Given the description of an element on the screen output the (x, y) to click on. 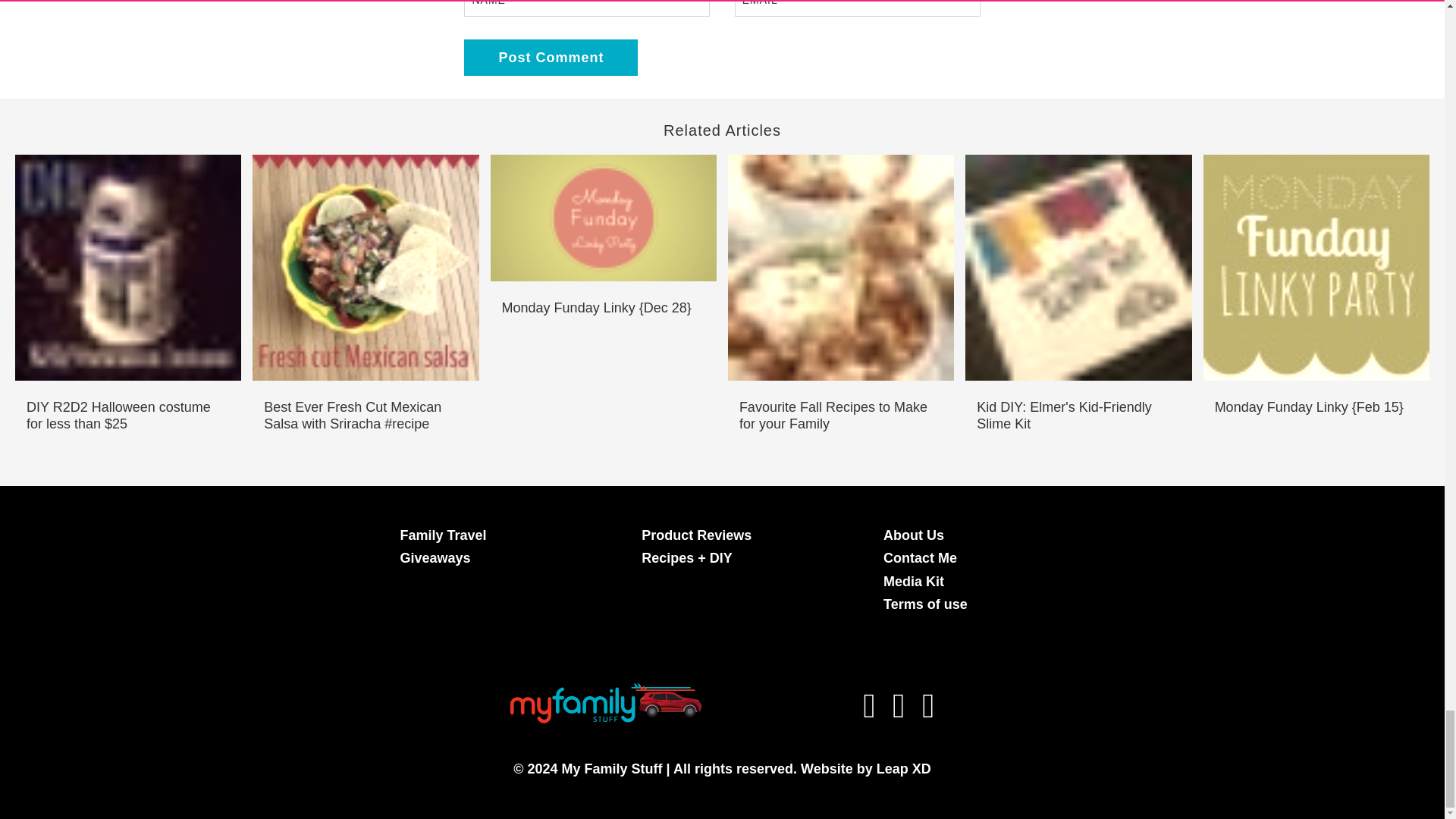
Favourite Fall Recipes to Make for your Family (840, 415)
Post Comment (550, 57)
Kid DIY: Elmer's Kid-Friendly Slime Kit (1077, 415)
Post Comment (550, 57)
